Given the description of an element on the screen output the (x, y) to click on. 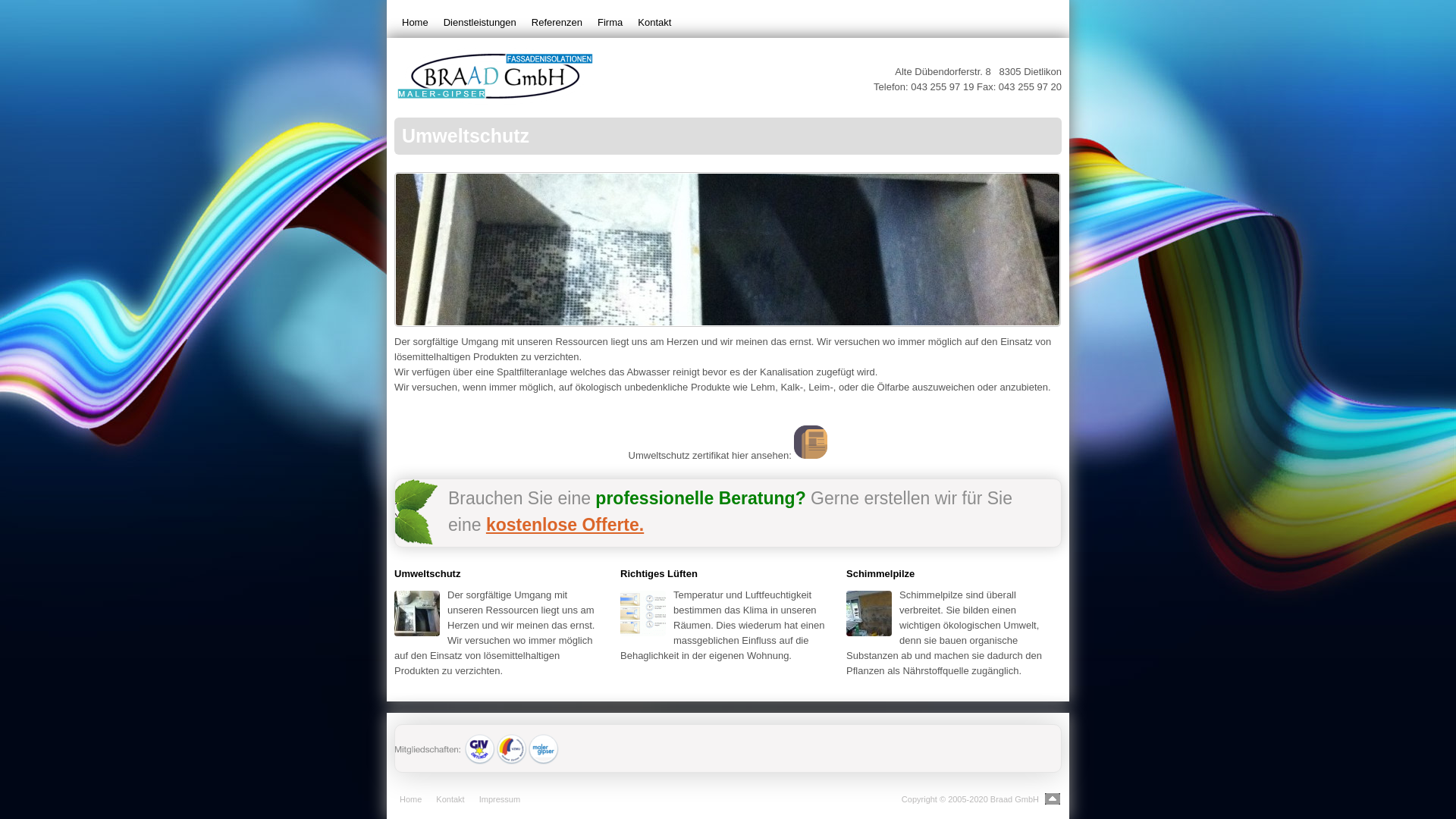
Referenzen Element type: text (556, 22)
Home Element type: text (415, 22)
Dienstleistungen Element type: text (480, 22)
Impressum Element type: text (499, 798)
Kontakt Element type: text (449, 798)
Schimmelpilze Element type: text (880, 573)
Firma Element type: text (609, 22)
kostenlose Offerte. Element type: text (564, 524)
Kontakt Element type: text (654, 22)
Home Element type: text (410, 798)
Umweltschutz Element type: text (427, 573)
